Given the description of an element on the screen output the (x, y) to click on. 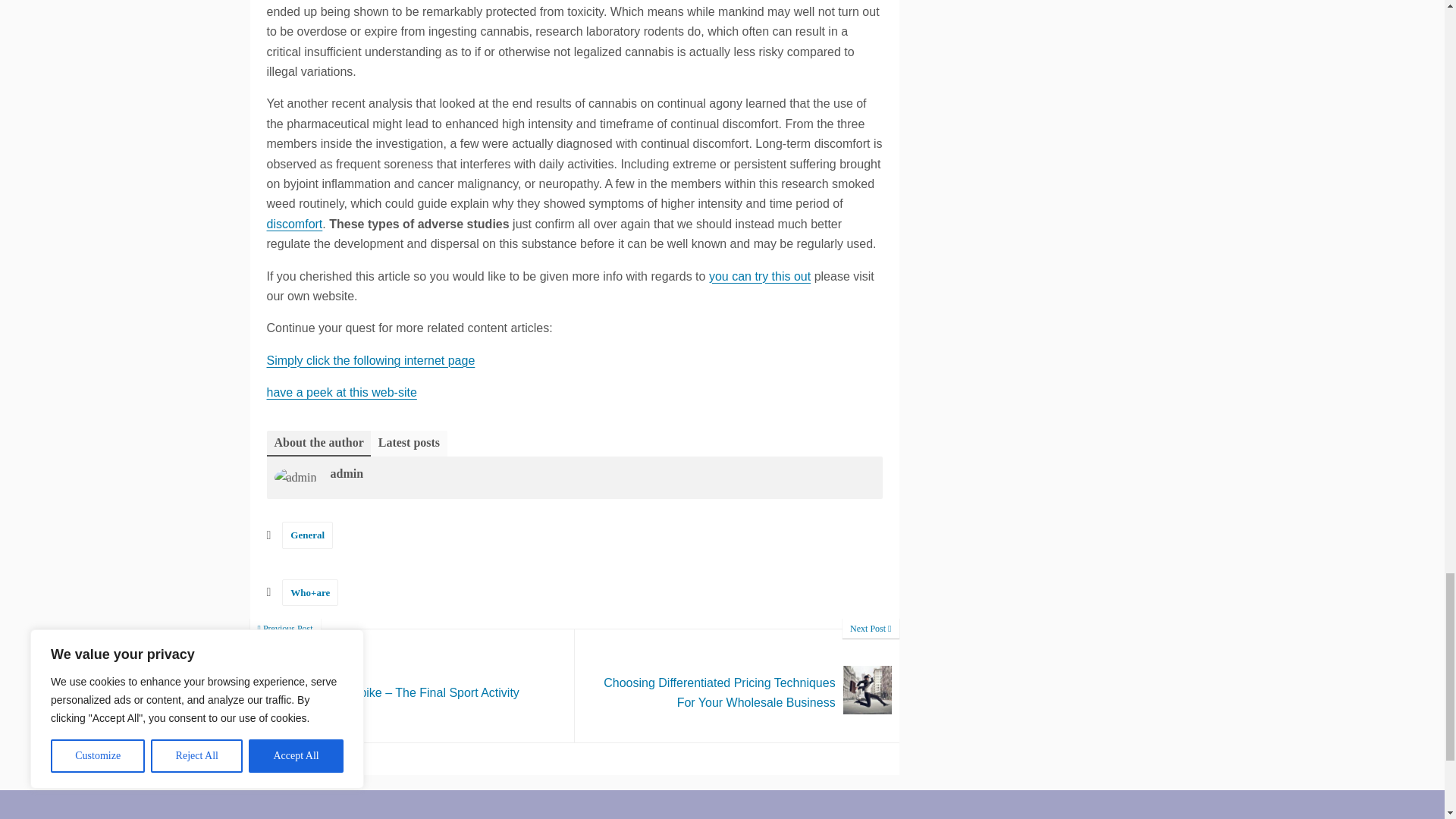
General (307, 534)
Simply click the following internet page (371, 359)
you can try this out (759, 276)
have a peek at this web-site (341, 391)
discomfort (294, 223)
